Given the description of an element on the screen output the (x, y) to click on. 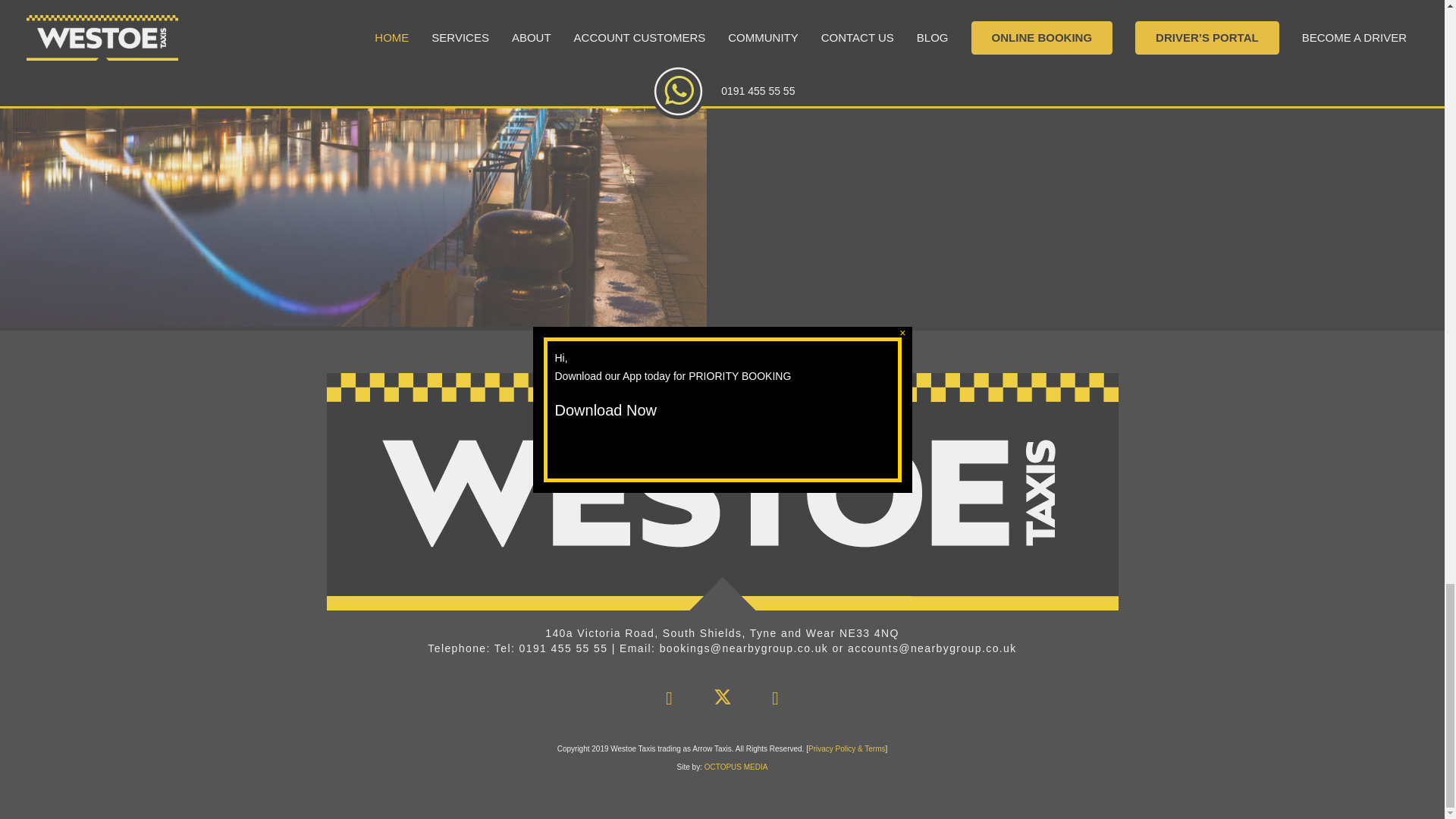
OCTOPUS MEDIA (736, 766)
Facebook (668, 698)
Twitter (721, 698)
Email (774, 698)
